Given the description of an element on the screen output the (x, y) to click on. 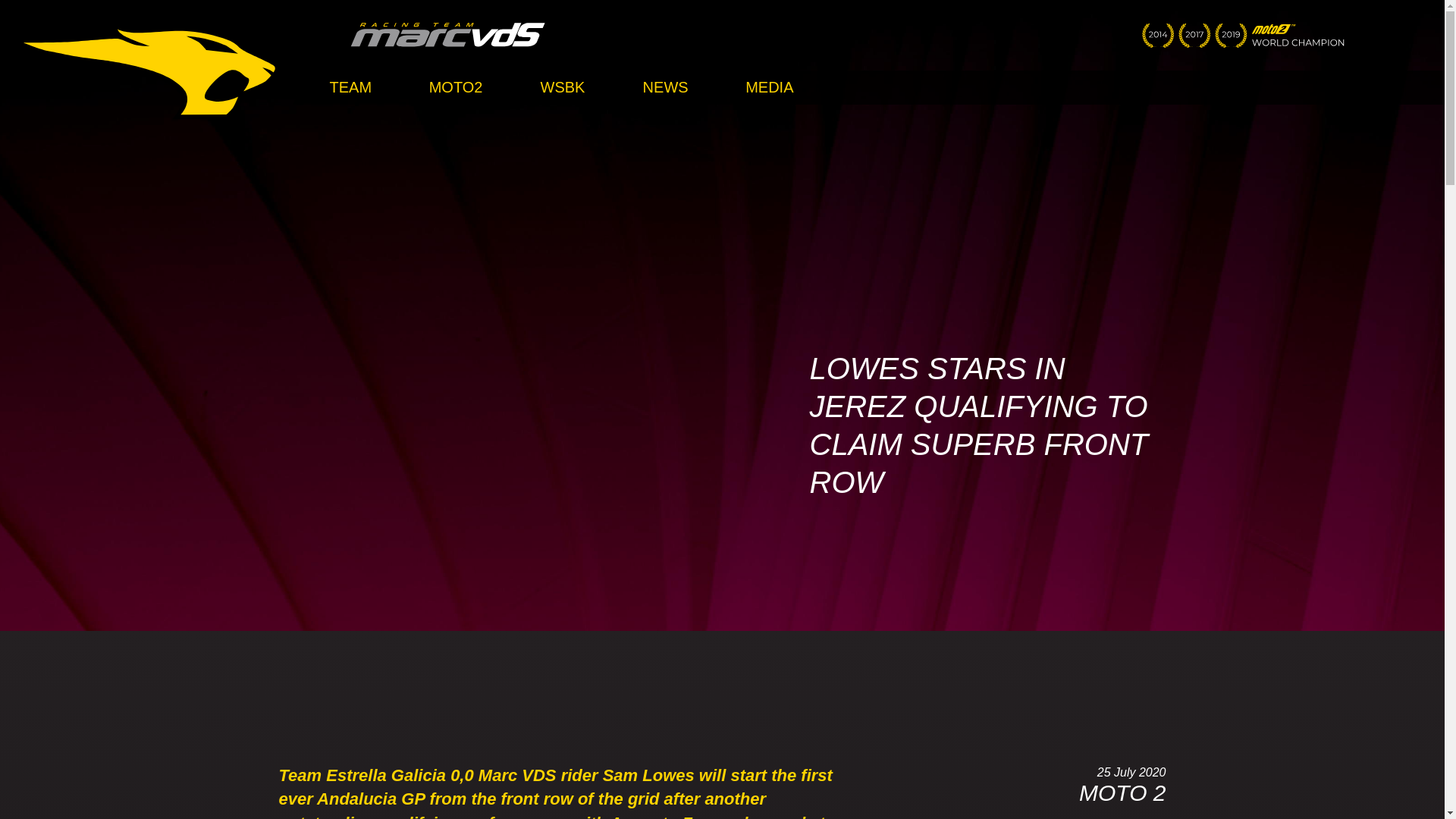
WSBK (561, 87)
TEAM (350, 87)
MEDIA (770, 87)
MOTO2 (456, 87)
NEWS (664, 87)
